Given the description of an element on the screen output the (x, y) to click on. 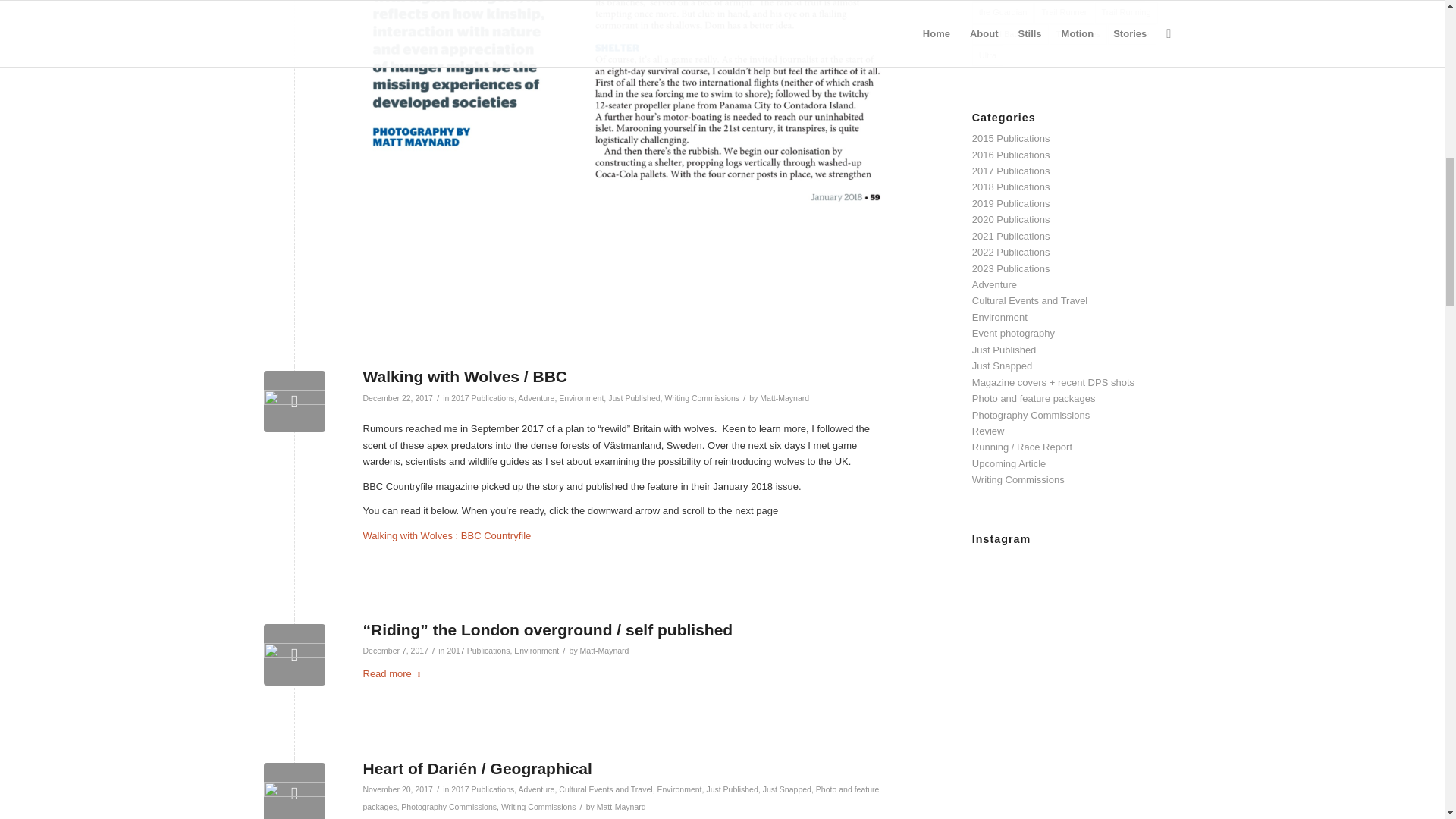
Adventure (536, 397)
Environment (581, 397)
Writing Commissions (701, 397)
Just Published (633, 397)
Posts by Matt-Maynard (621, 806)
Heart of Darien PDF (293, 790)
Screen Shot 2017-11-23 at 11.10.40 (293, 401)
Screen Shot 2018-05-07 at 15.33.02 (293, 654)
2017 Publications (482, 397)
Posts by Matt-Maynard (603, 650)
Posts by Matt-Maynard (784, 397)
